Given the description of an element on the screen output the (x, y) to click on. 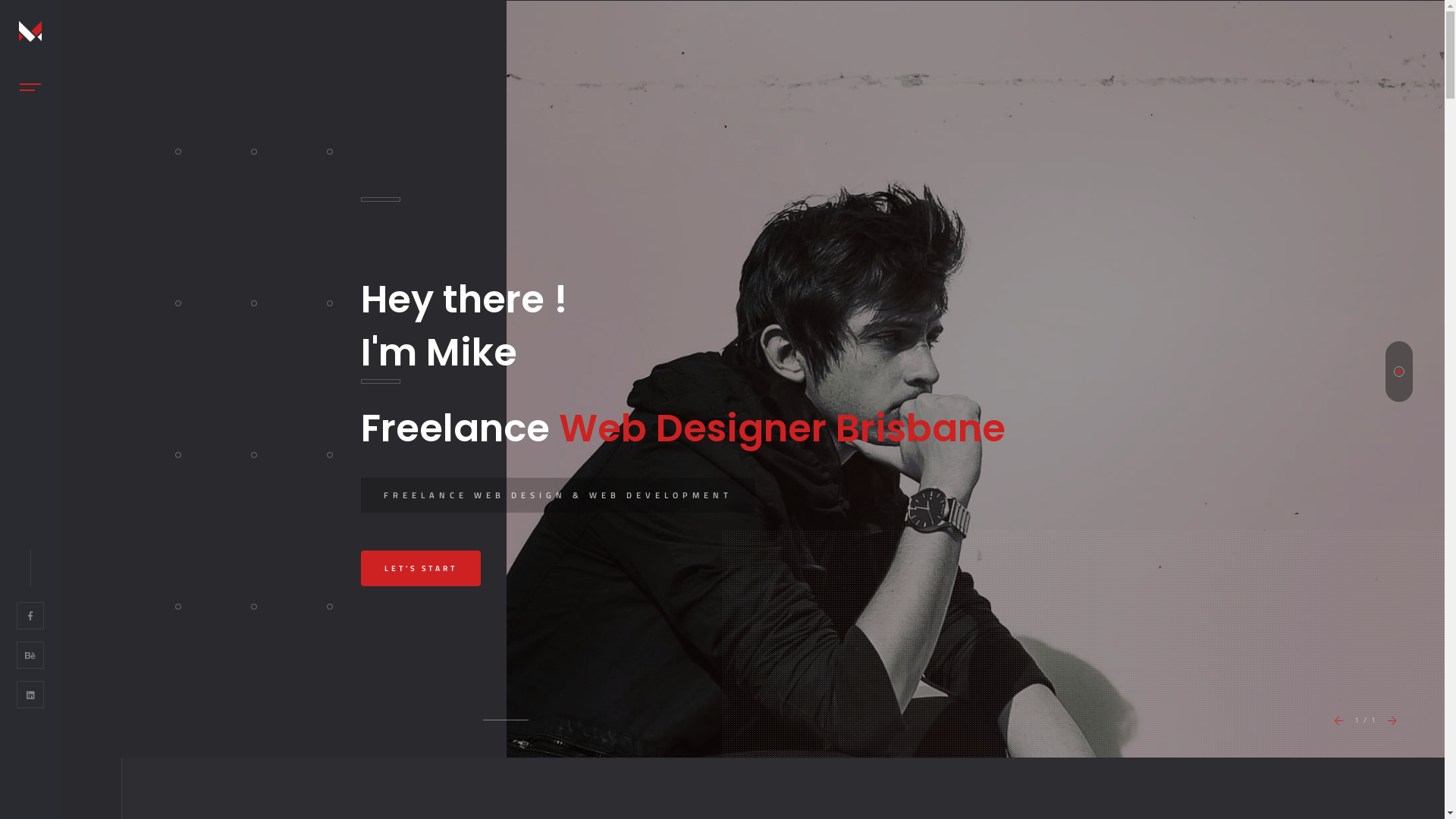
LET'S START Element type: text (420, 568)
1 Element type: text (1398, 371)
